Given the description of an element on the screen output the (x, y) to click on. 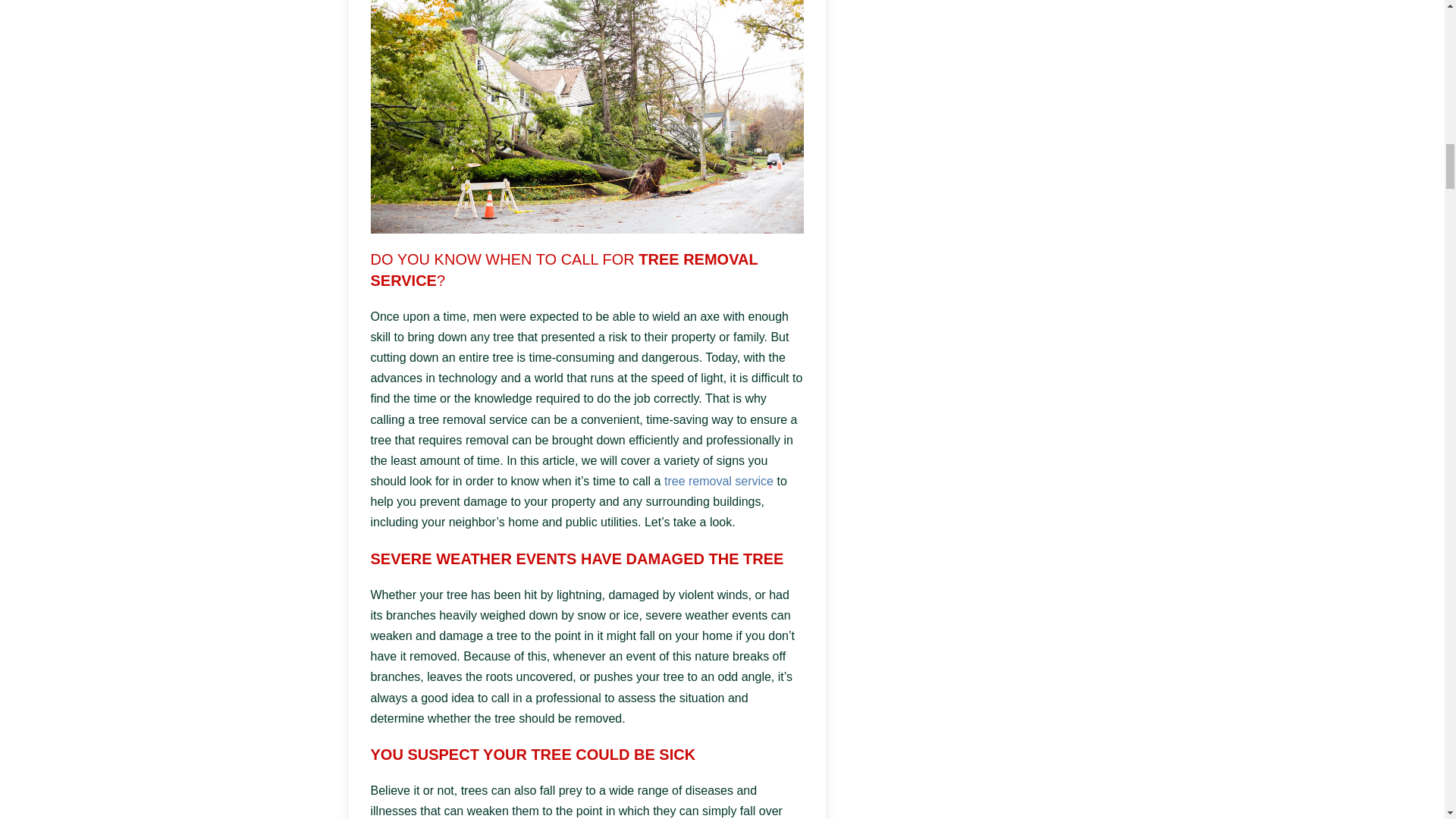
tree removal service (718, 481)
